Given the description of an element on the screen output the (x, y) to click on. 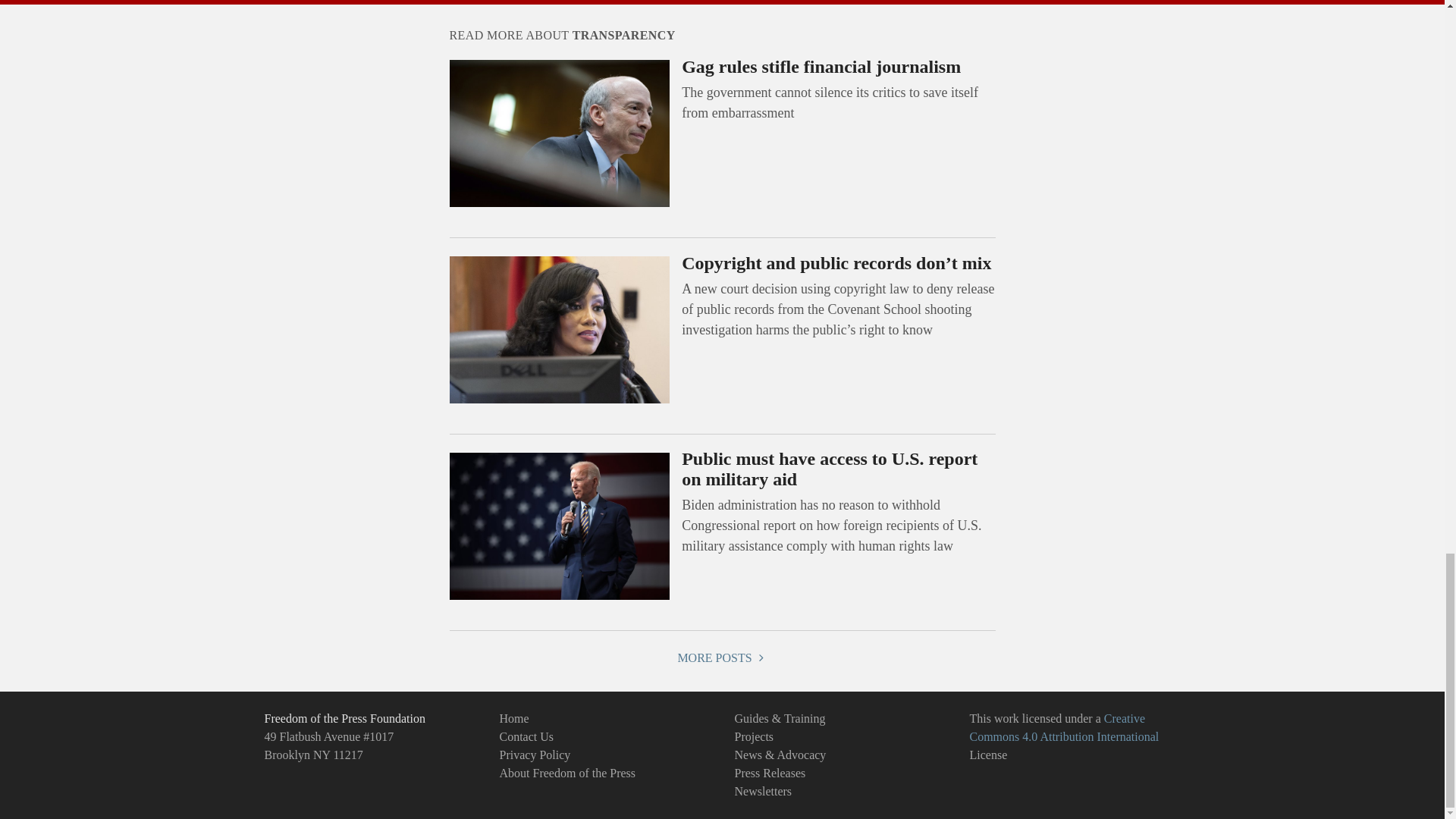
Public must have access to U.S. report on military aid (828, 468)
Contact Us (526, 736)
Gag rules stifle financial journalism (820, 66)
TRANSPARENCY (623, 34)
Privacy Policy (534, 754)
About Freedom of the Press (566, 772)
Home (513, 717)
MORE POSTS (722, 657)
